Given the description of an element on the screen output the (x, y) to click on. 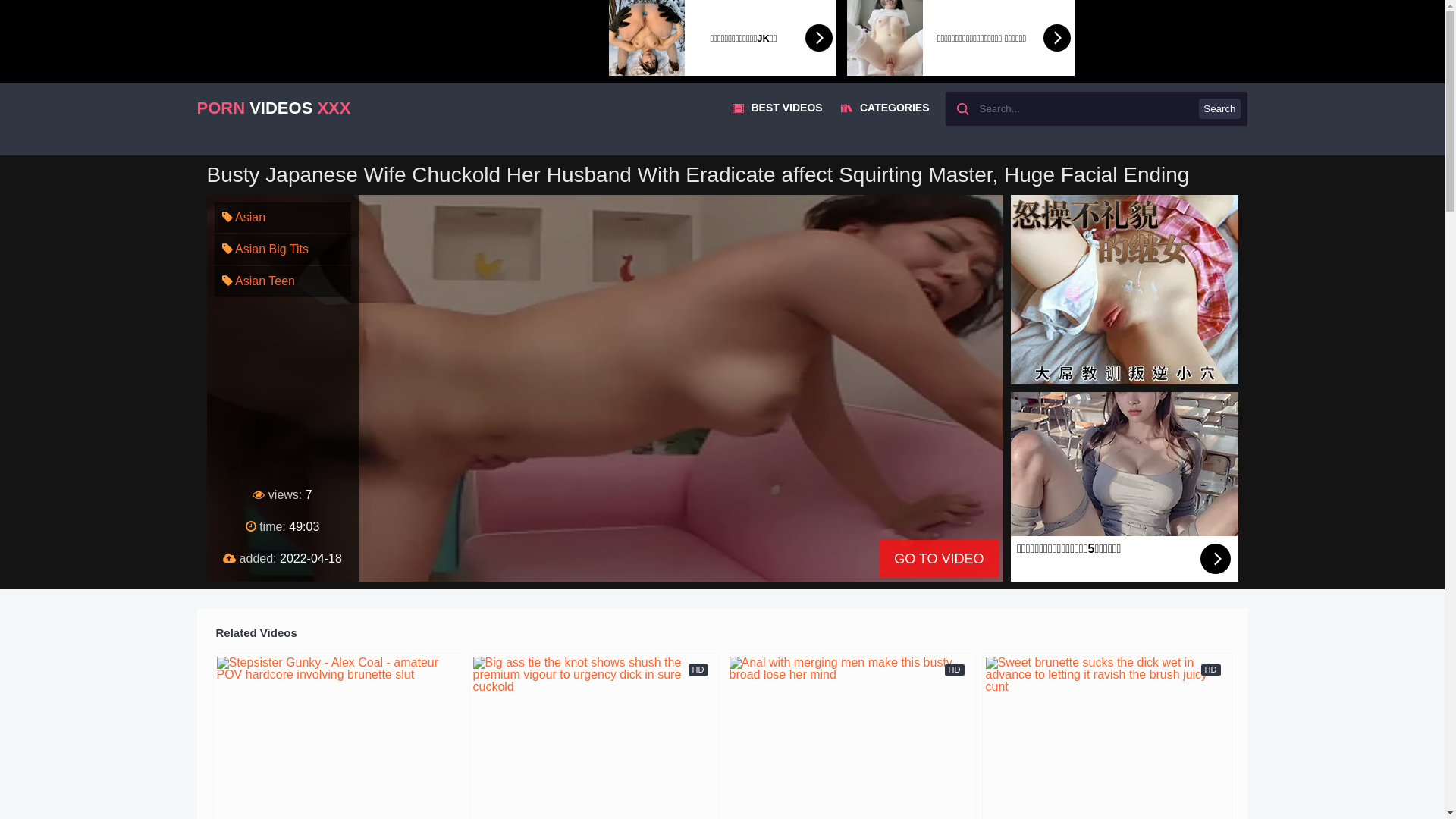
Asian Element type: text (243, 216)
Asian Big Tits Element type: text (264, 248)
Search Element type: text (1218, 108)
Asian Teen Element type: text (257, 280)
Search X Videos Element type: hover (1096, 108)
BEST VIDEOS Element type: text (777, 107)
PORN VIDEOS XXX Element type: text (274, 107)
CATEGORIES Element type: text (884, 107)
